Given the description of an element on the screen output the (x, y) to click on. 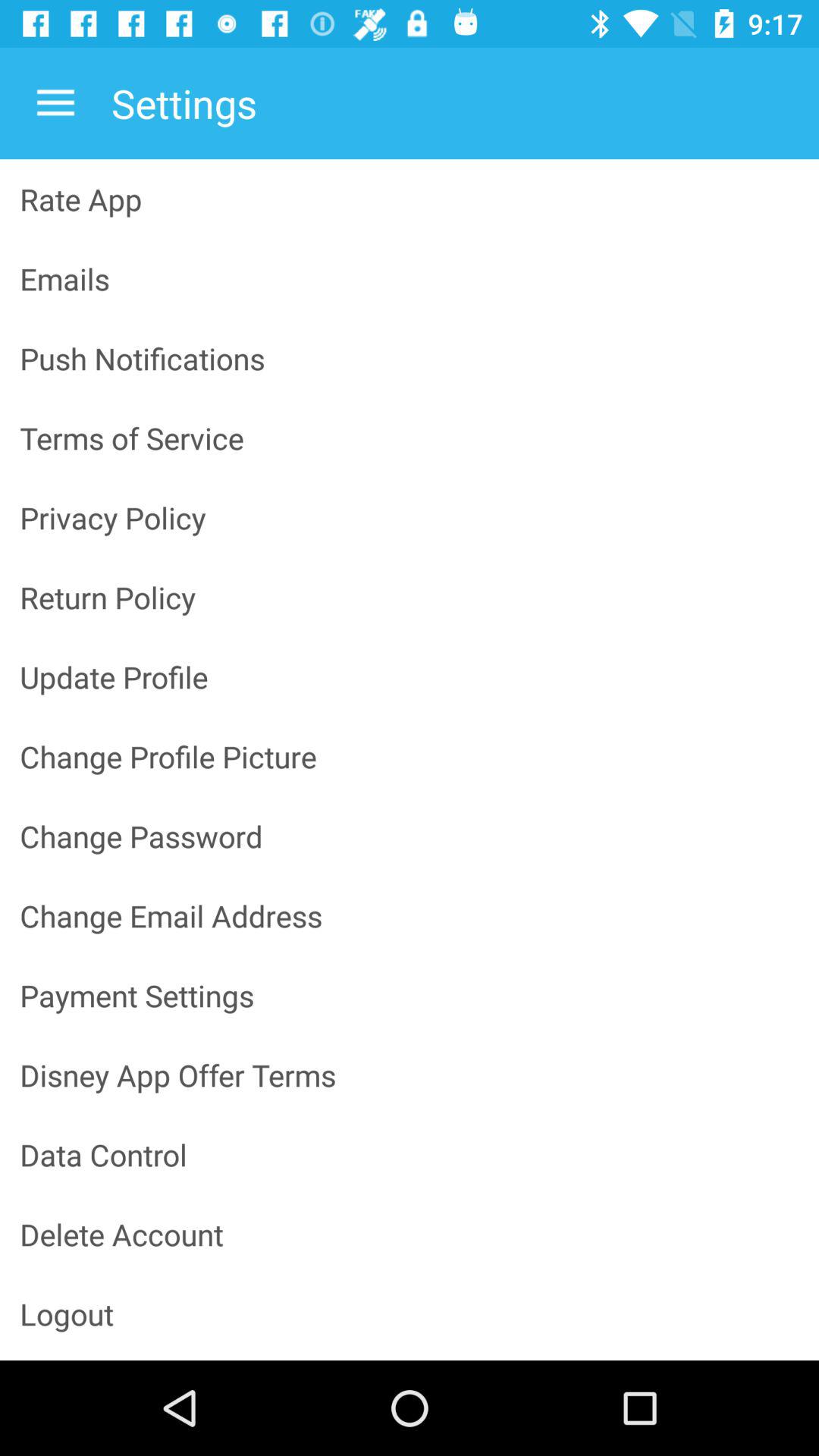
open icon to the left of settings icon (55, 103)
